Given the description of an element on the screen output the (x, y) to click on. 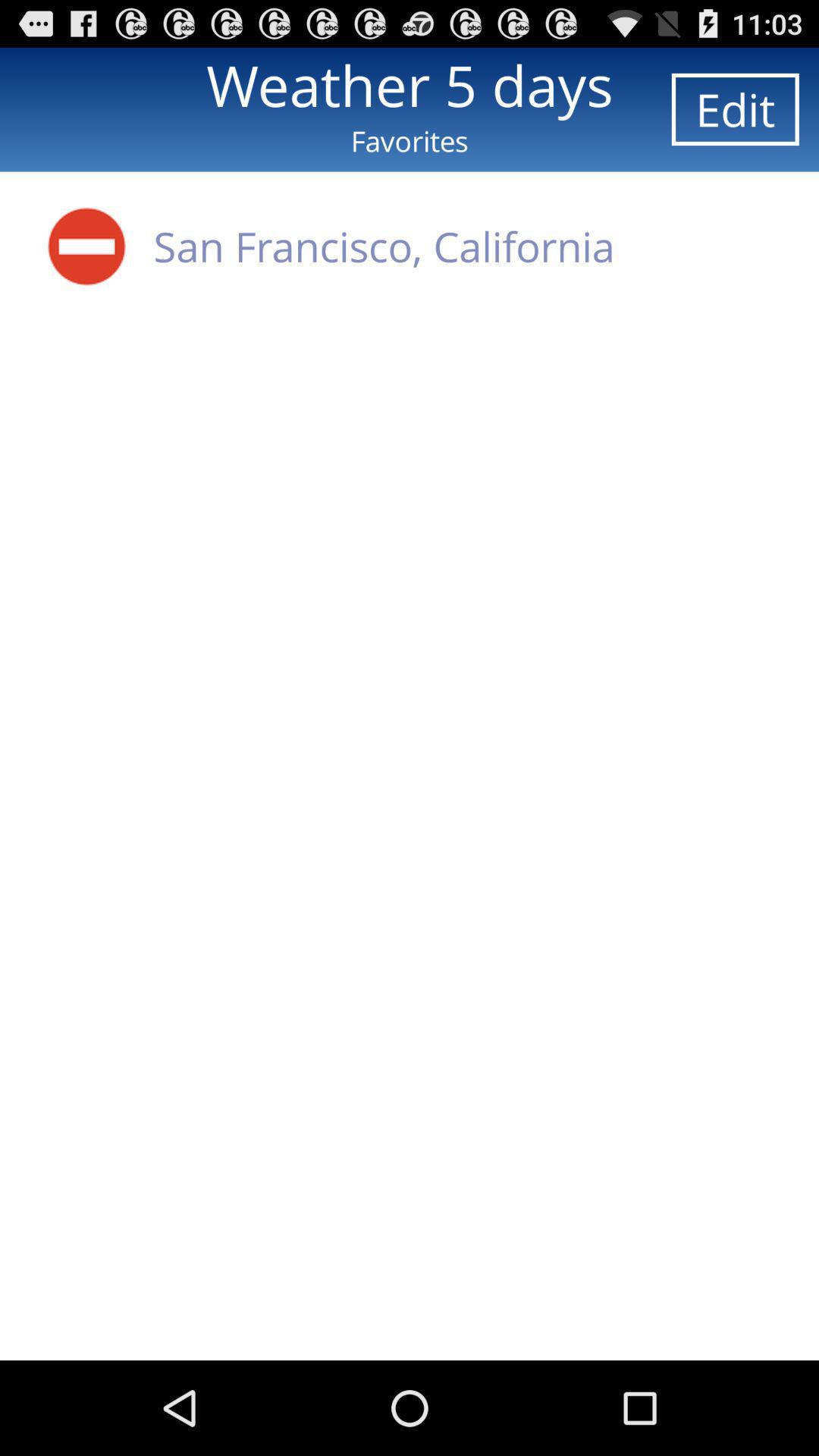
choose the item below favorites (383, 245)
